Given the description of an element on the screen output the (x, y) to click on. 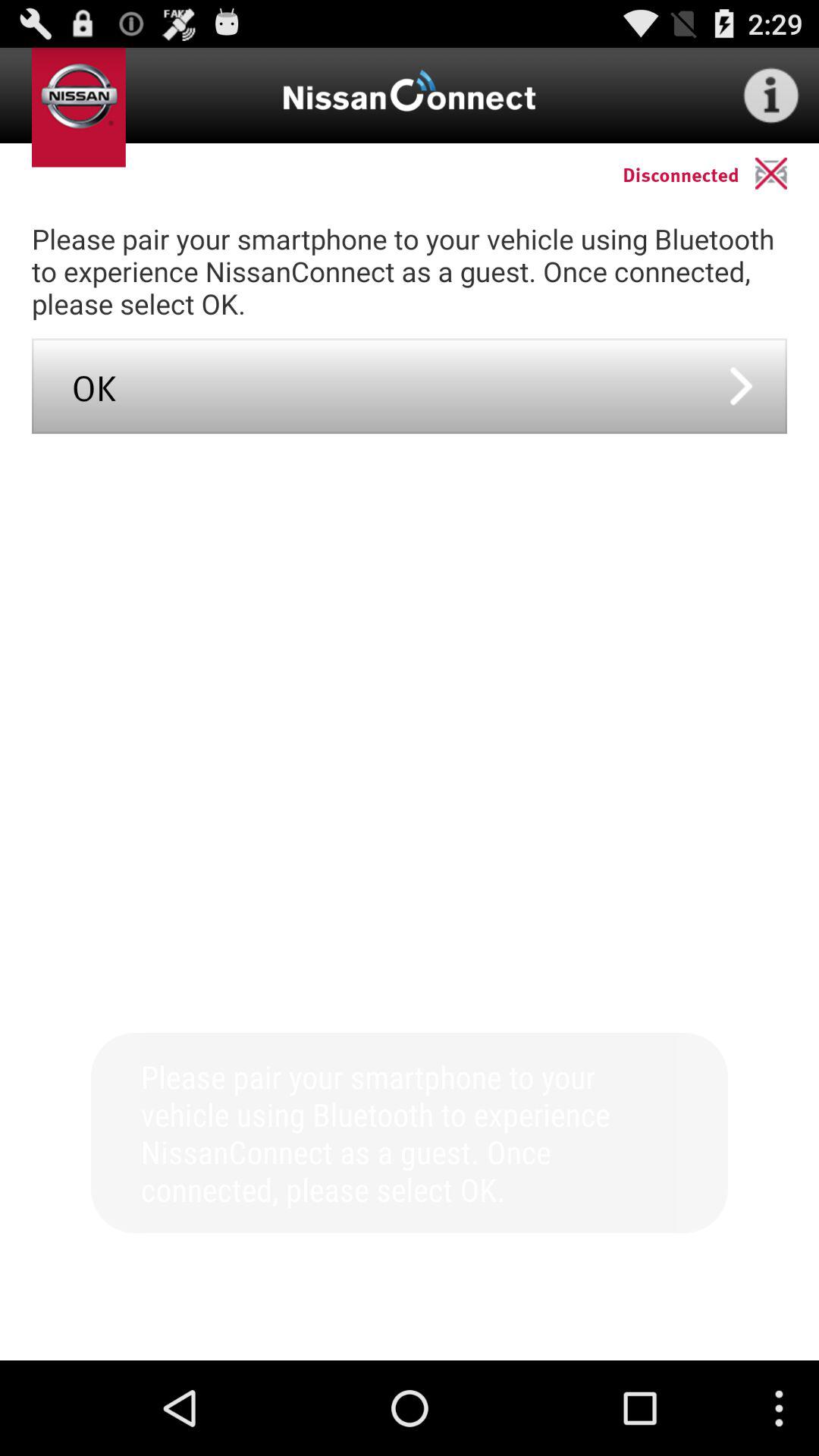
click app to the right of the disconnected icon (787, 173)
